Given the description of an element on the screen output the (x, y) to click on. 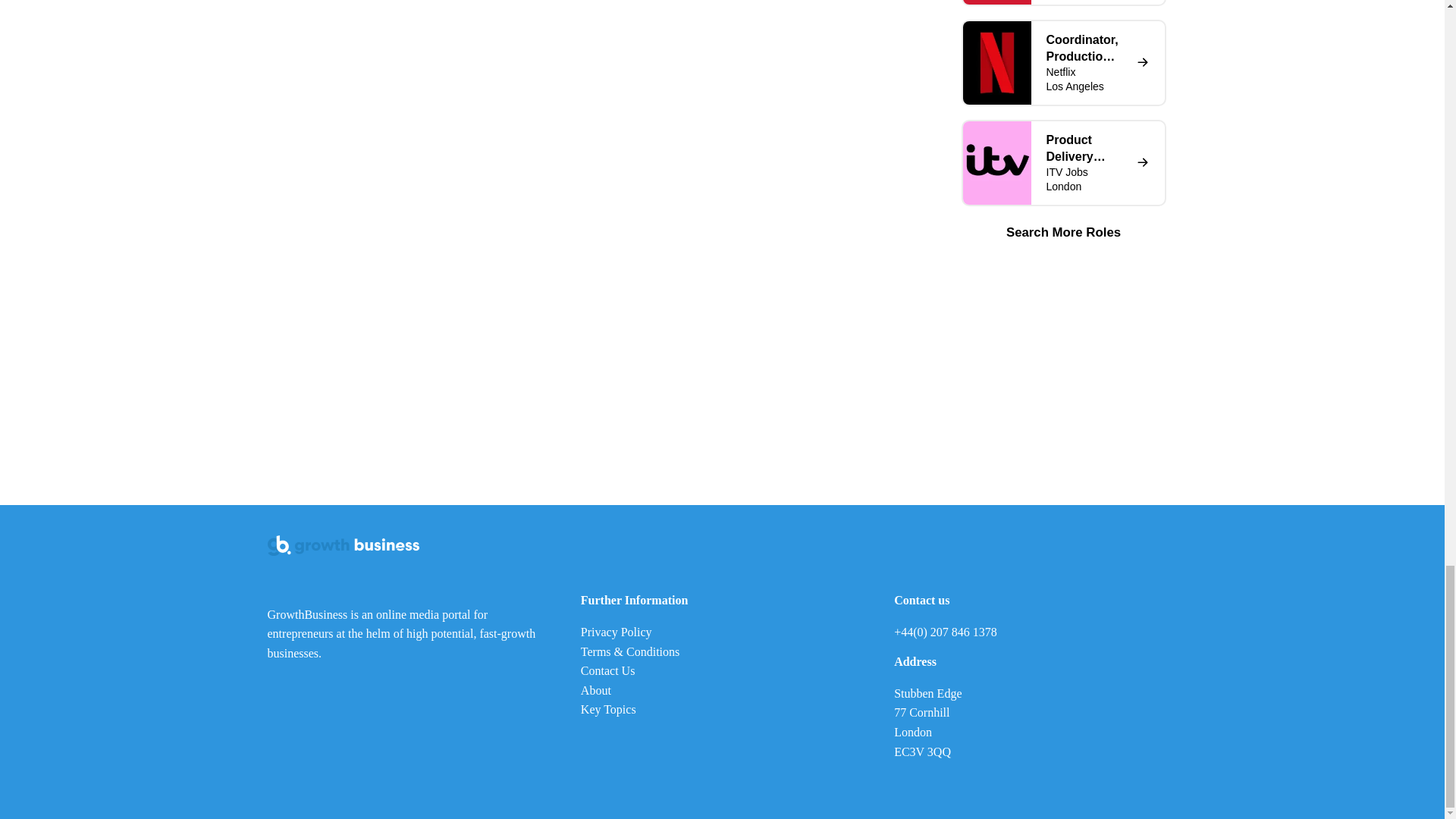
3rd party ad content (1062, 364)
